Given the description of an element on the screen output the (x, y) to click on. 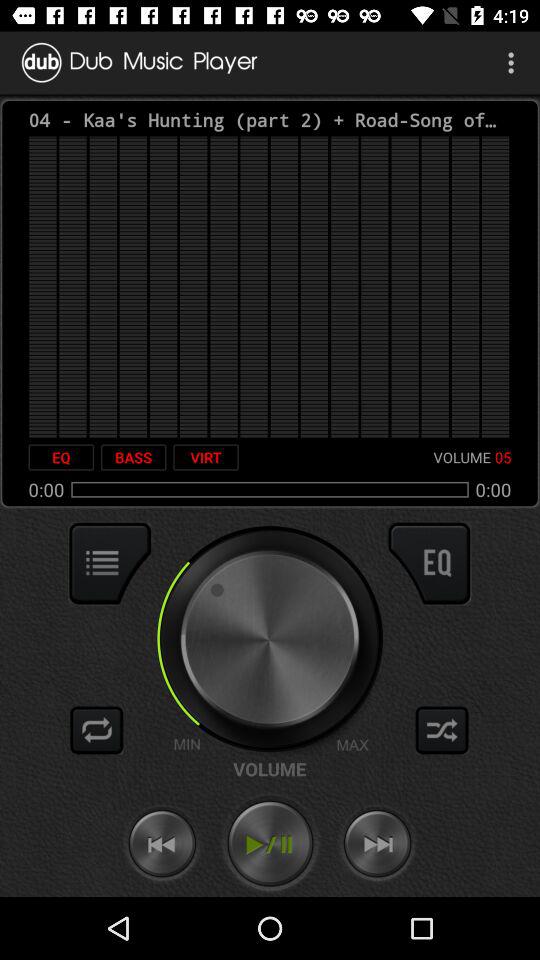
song info (110, 563)
